Given the description of an element on the screen output the (x, y) to click on. 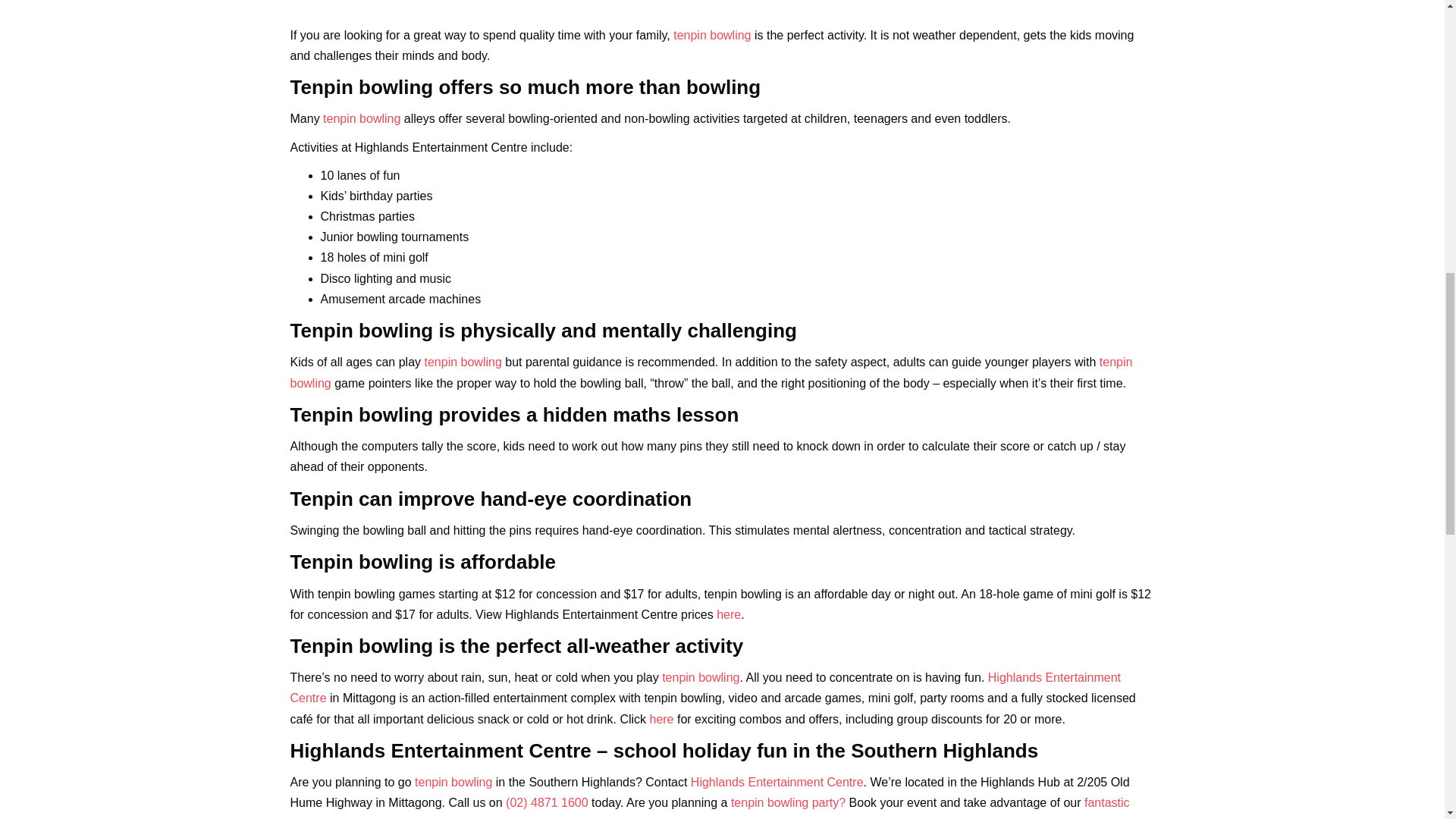
tenpin bowling (711, 34)
tenpin bowling (361, 118)
Highlands Entertainment Centre (776, 781)
tenpin bowling (700, 676)
here (660, 718)
here (728, 614)
Highlands Entertainment Centre (705, 687)
tenpin bowling (453, 781)
tenpin bowling (463, 361)
tenpin bowling (710, 372)
